Given the description of an element on the screen output the (x, y) to click on. 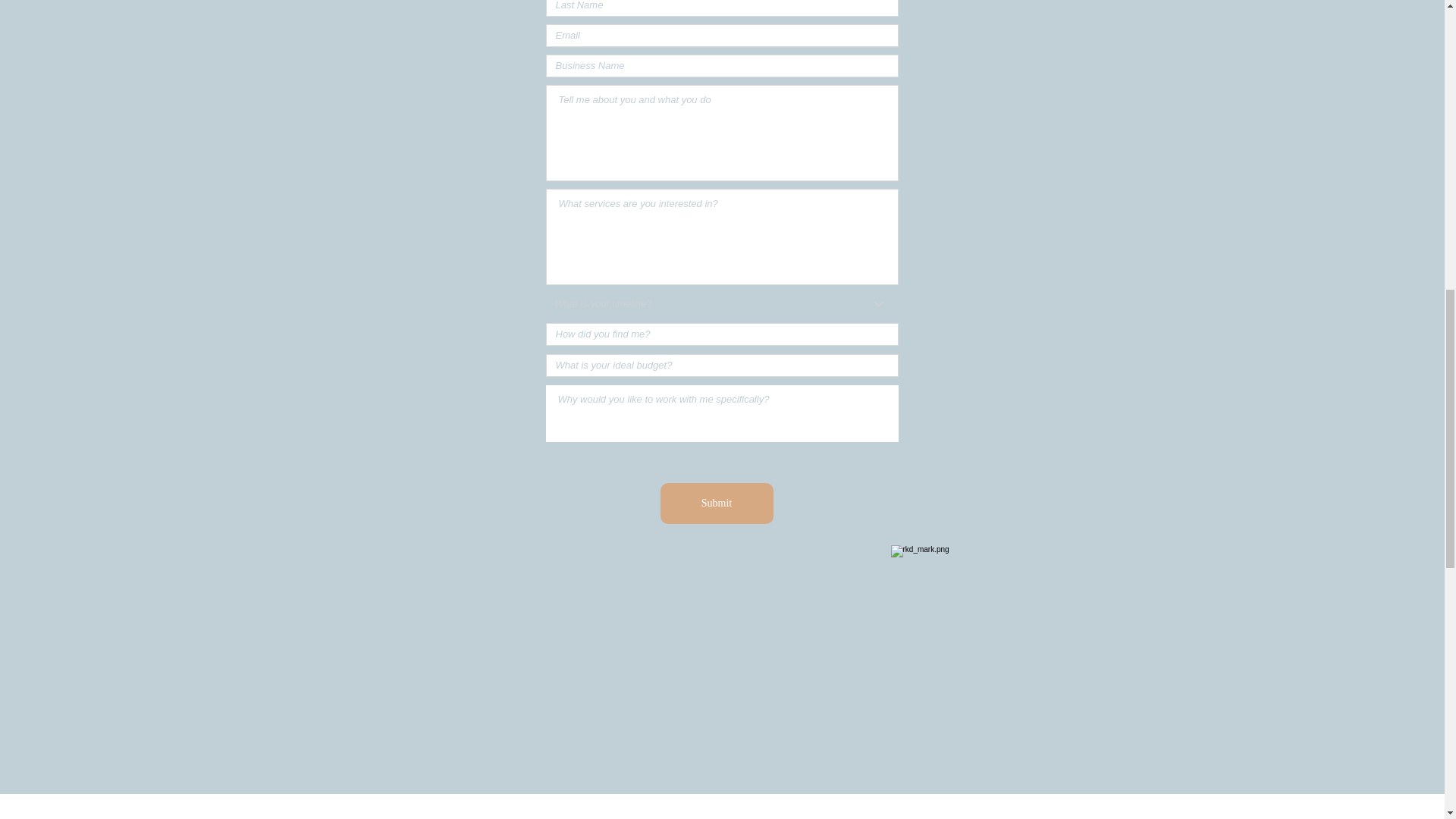
Submit (716, 503)
